Given the description of an element on the screen output the (x, y) to click on. 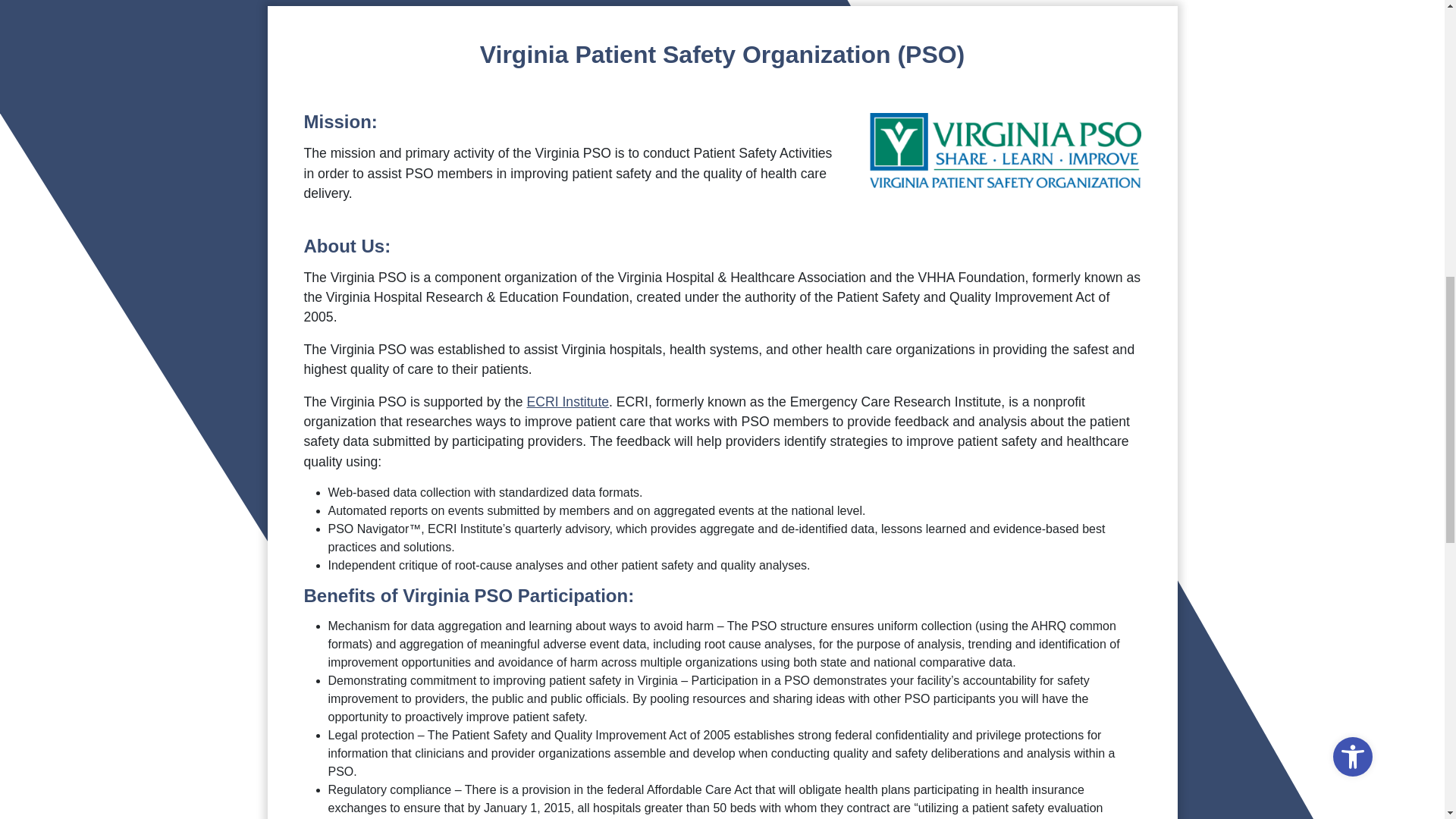
ECRI Institute (568, 401)
